Given the description of an element on the screen output the (x, y) to click on. 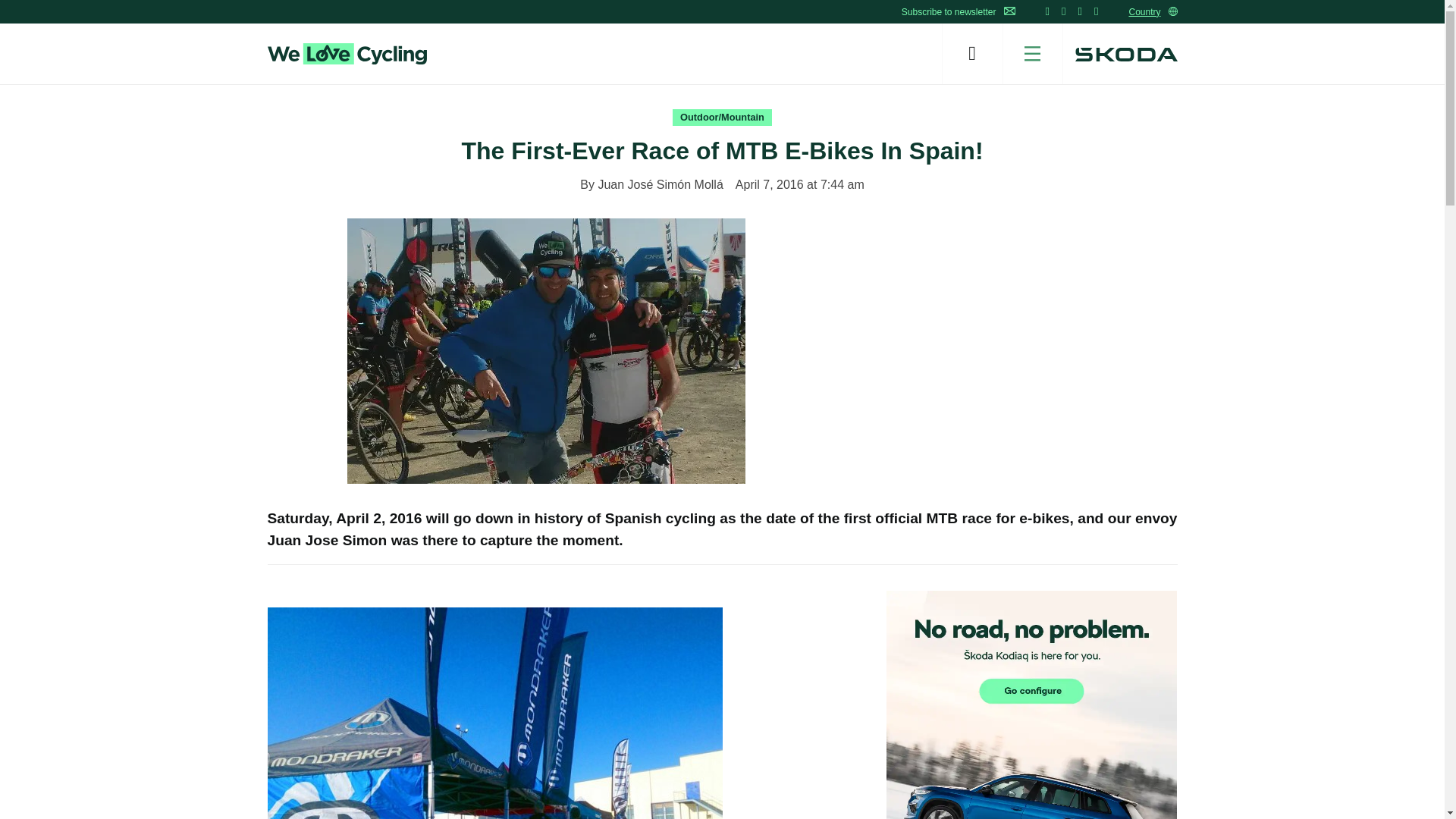
We Love Cycling magazine (346, 53)
Menu (1032, 53)
